Given the description of an element on the screen output the (x, y) to click on. 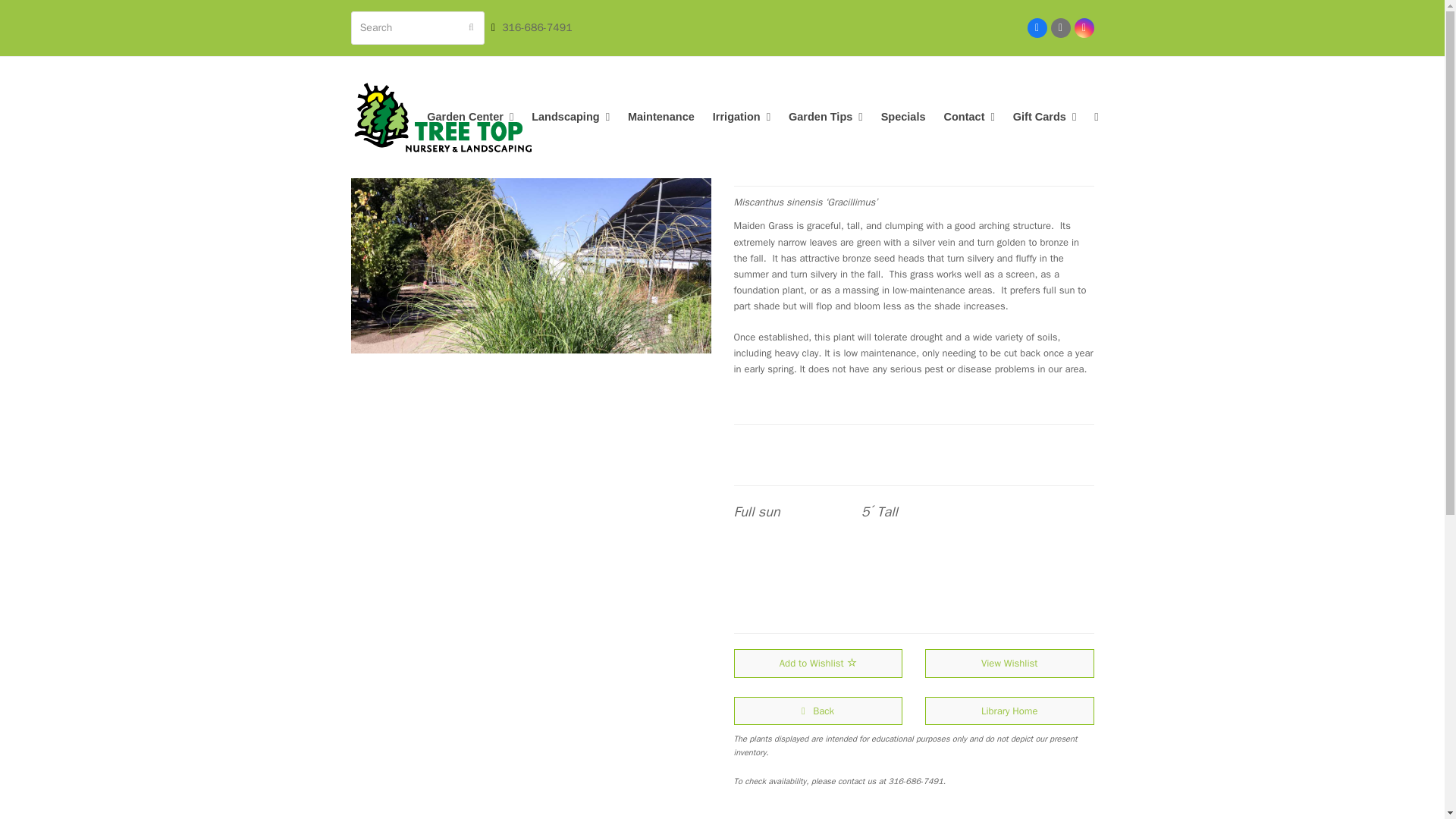
Library Home (1009, 710)
View Wishlist (1009, 663)
Instagram (1083, 27)
Back (817, 710)
Facebook (1036, 27)
Landscaping (570, 117)
Maintenance (660, 117)
Email (1060, 27)
Garden Tips (826, 117)
Specials (903, 117)
Contact (968, 117)
Irrigation (741, 117)
Add to Wishlist (817, 663)
Garden Center (469, 117)
Gift Cards (1044, 117)
